Given the description of an element on the screen output the (x, y) to click on. 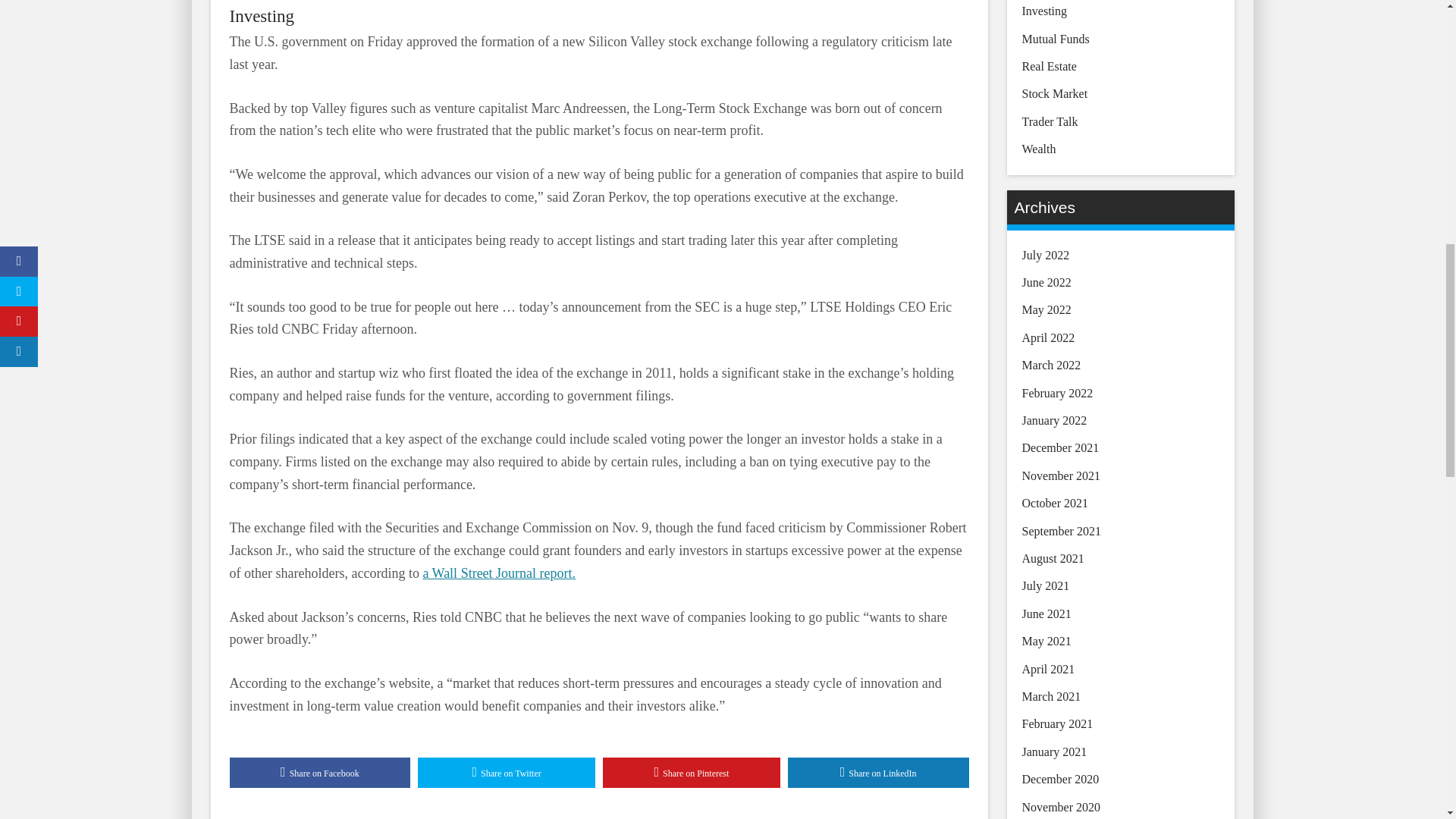
Investing (261, 15)
